Given the description of an element on the screen output the (x, y) to click on. 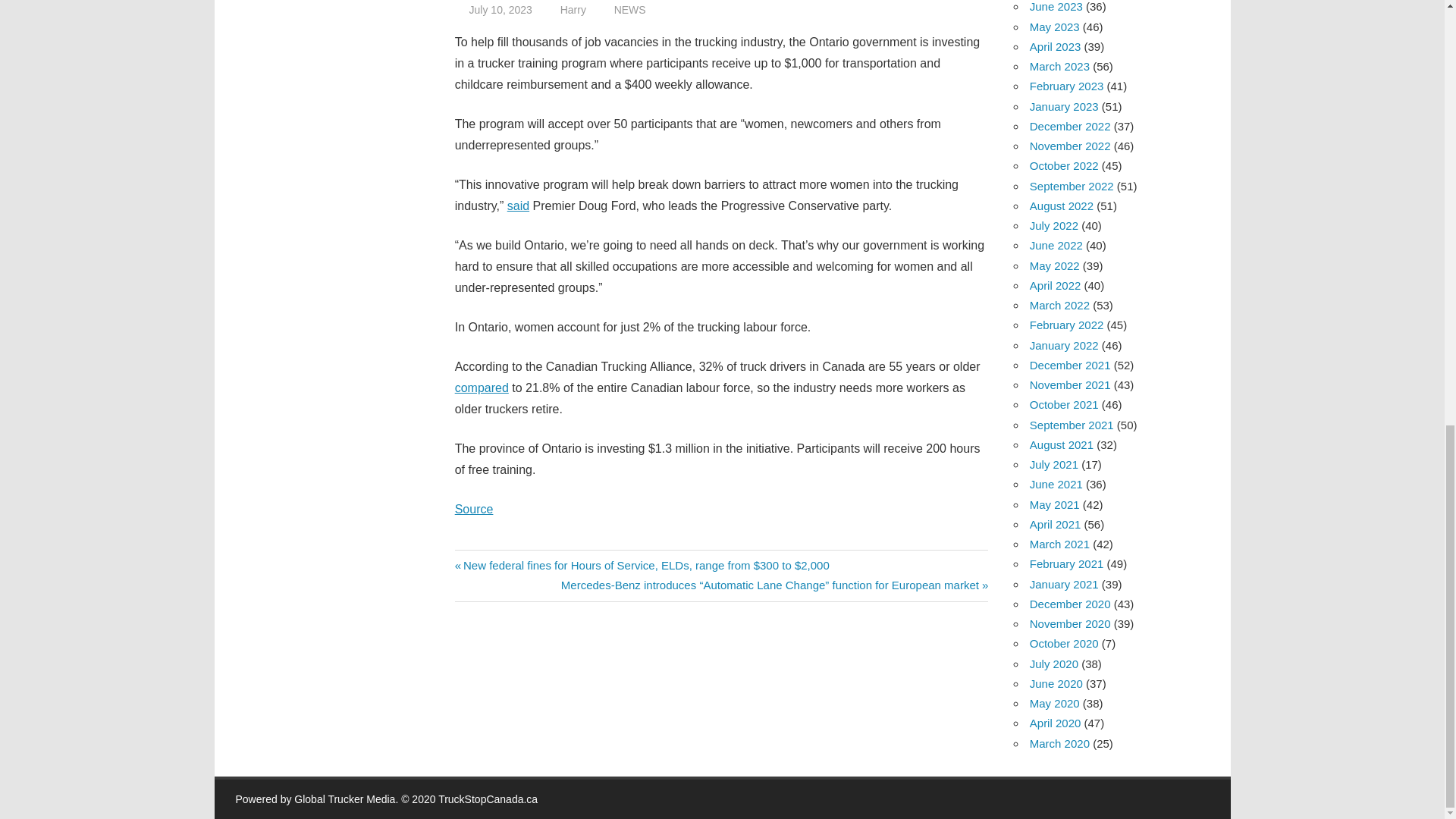
April 2023 (1055, 46)
May 2023 (1054, 26)
said (517, 205)
March 2023 (1059, 65)
February 2023 (1066, 85)
Harry (573, 9)
Source (473, 508)
January 2023 (1064, 106)
View all posts by Harry (573, 9)
NEWS (630, 9)
